Given the description of an element on the screen output the (x, y) to click on. 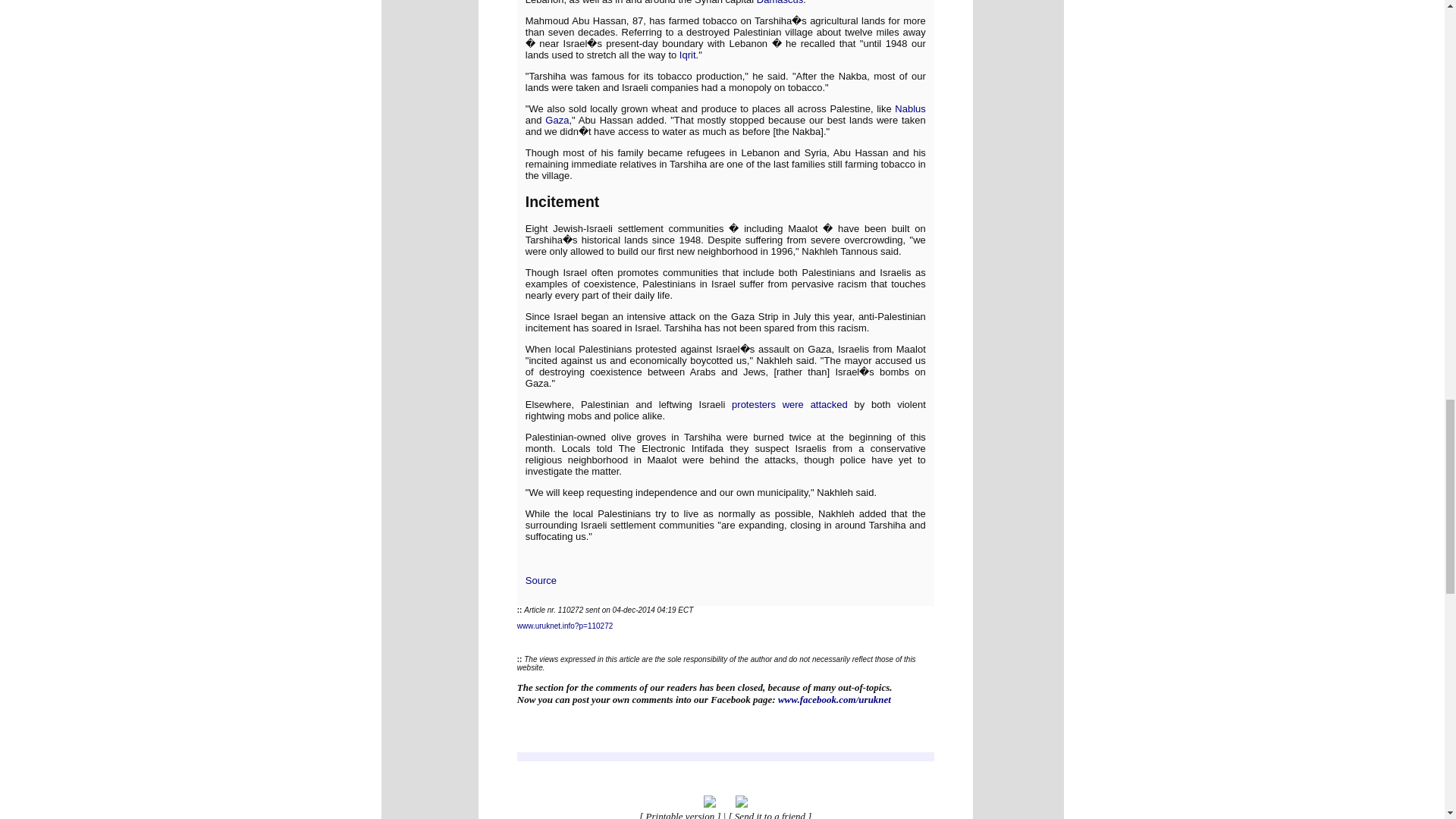
Damascus (780, 2)
Gaza (556, 120)
Iqrit (687, 54)
Source (540, 580)
Printable version (680, 814)
Nablus (909, 108)
protesters were attacked (789, 404)
